Given the description of an element on the screen output the (x, y) to click on. 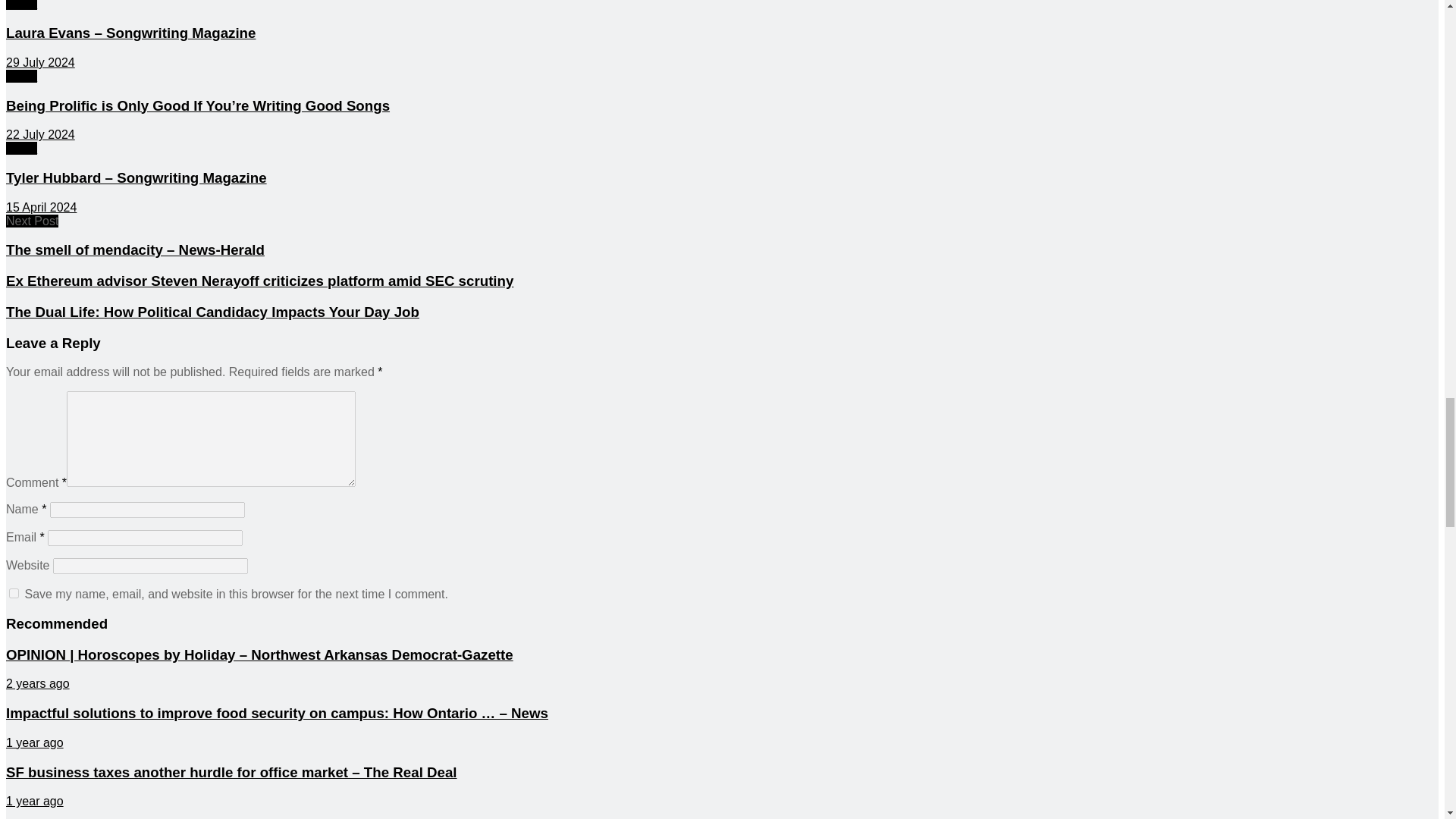
yes (13, 593)
